Given the description of an element on the screen output the (x, y) to click on. 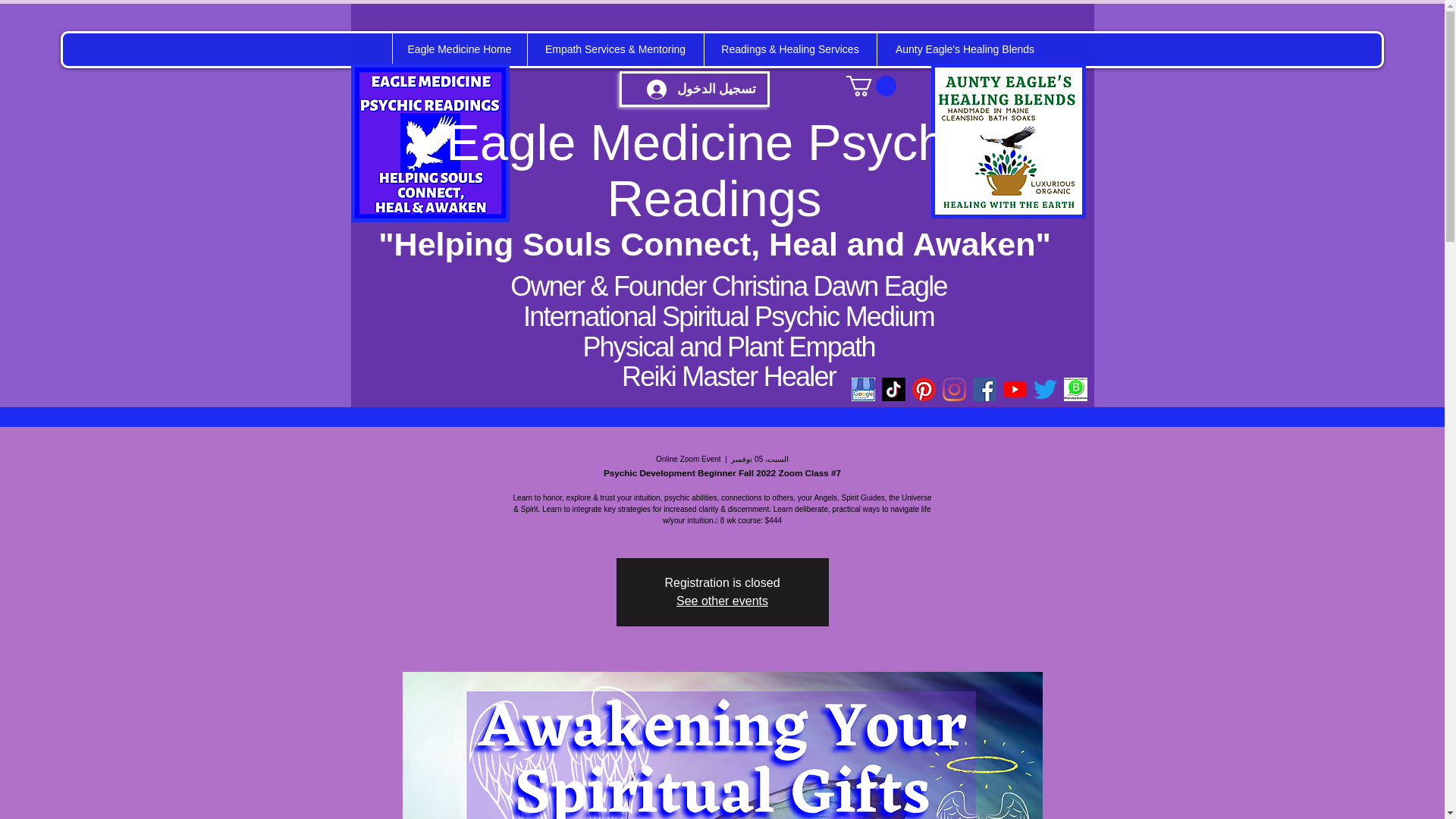
See other events (722, 600)
Aunty Eagle's Healing Blends (964, 49)
Eagle Medicine Home (458, 49)
Eagle Medicine Psychic Readings (713, 169)
